Given the description of an element on the screen output the (x, y) to click on. 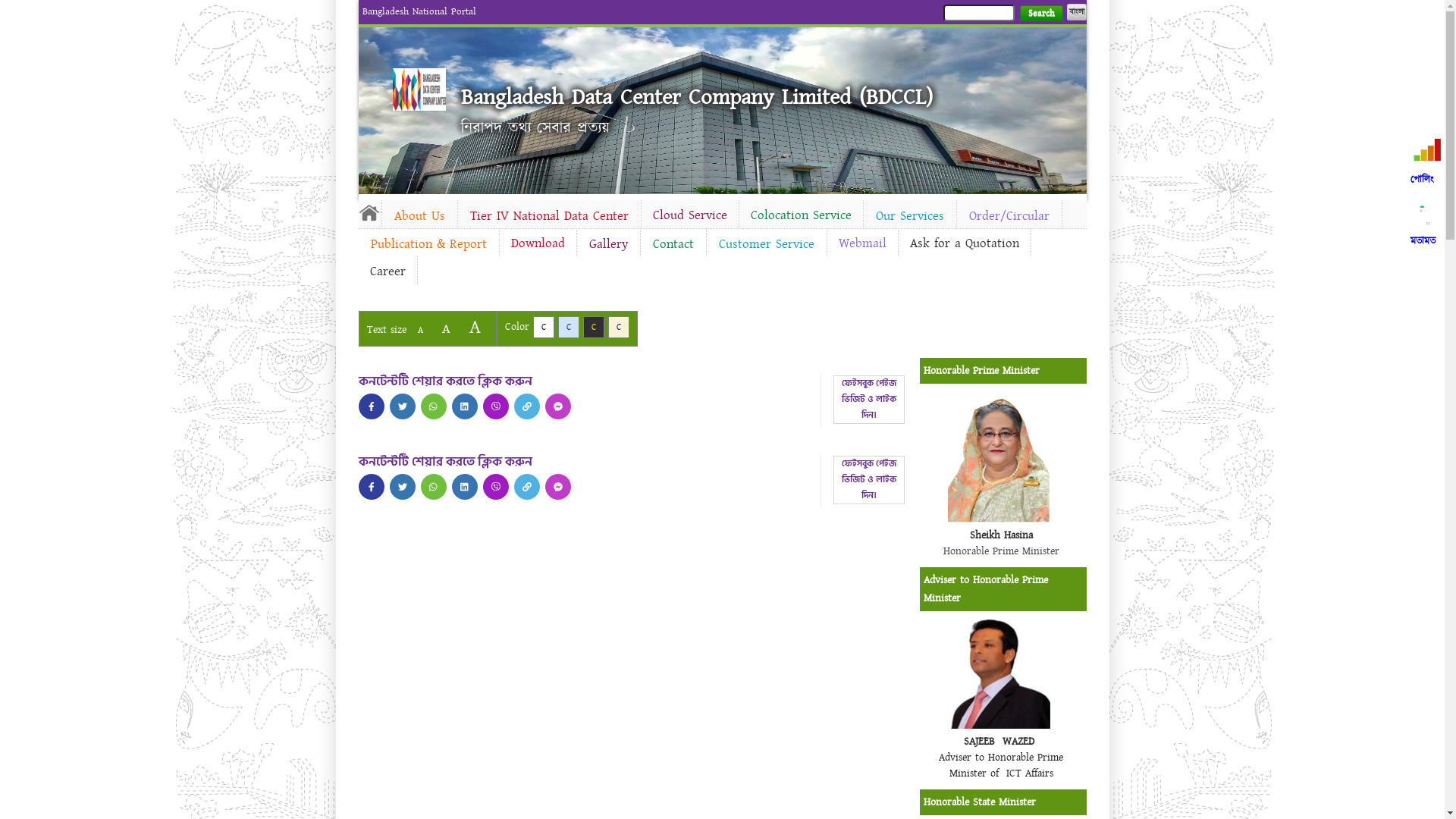
Our Services Element type: text (908, 216)
About Us Element type: text (419, 216)
Download Element type: text (536, 243)
A Element type: text (445, 328)
C Element type: text (568, 327)
Ask for a Quotation Element type: text (963, 243)
C Element type: text (592, 327)
A Element type: text (474, 327)
Career Element type: text (386, 271)
Bangladesh National Portal Element type: text (419, 11)
Colocation Service Element type: text (800, 215)
C Element type: text (618, 327)
Bangladesh Data Center Company Limited (BDCCL) Element type: text (696, 96)
Order/Circular Element type: text (1009, 216)
Customer Service Element type: text (766, 244)
A Element type: text (419, 330)
Publication & Report Element type: text (427, 244)
Cloud Service Element type: text (689, 215)
Tier IV National Data Center Element type: text (549, 216)
Gallery Element type: text (607, 244)
Webmail Element type: text (861, 243)
Home Element type: hover (368, 211)
Search Element type: text (1040, 13)
Home Element type: hover (418, 89)
Contact Element type: text (672, 244)
C Element type: text (542, 327)
